Given the description of an element on the screen output the (x, y) to click on. 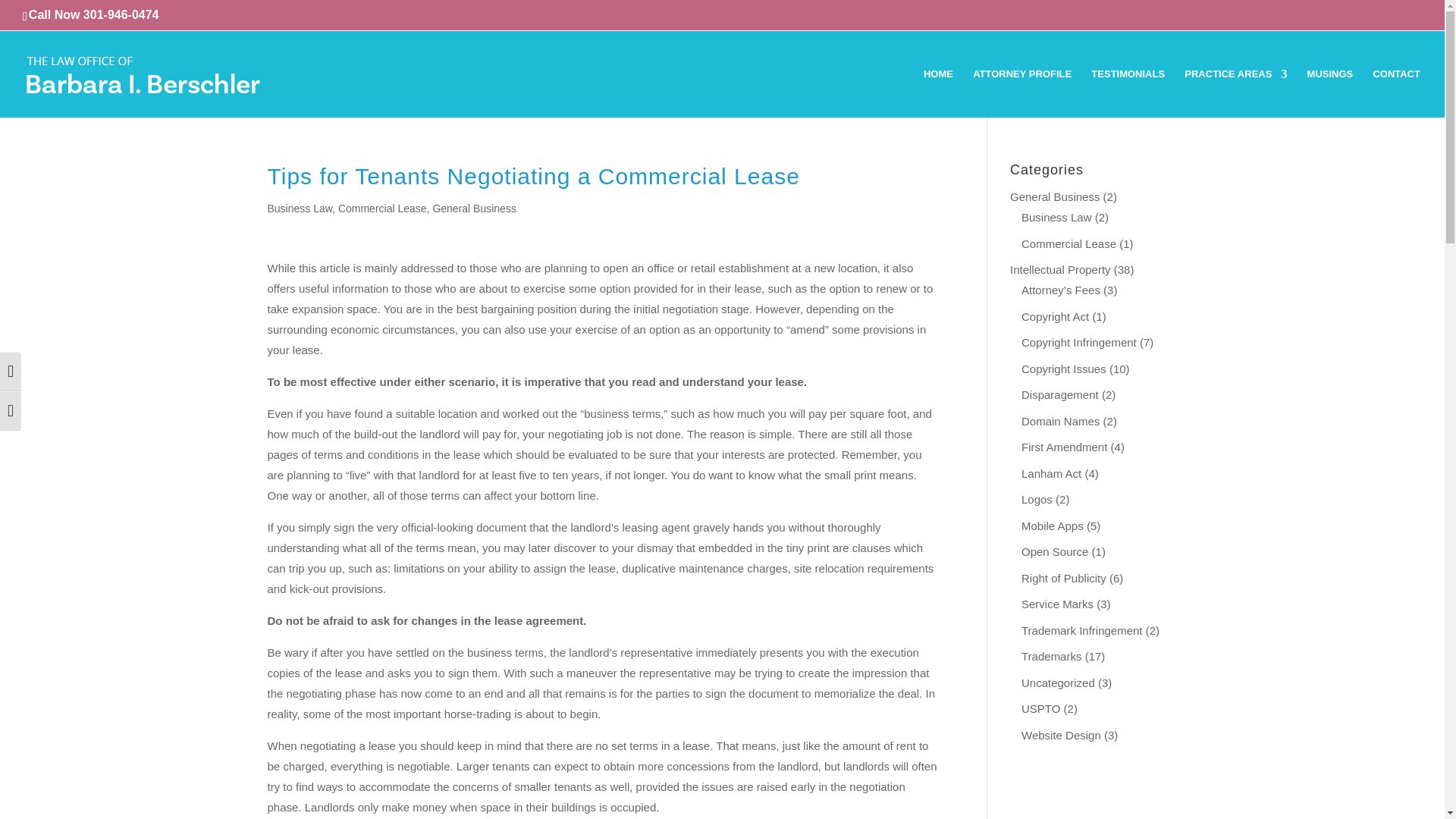
CONTACT (1397, 92)
Lanham Act (1051, 472)
Mobile Apps (1052, 525)
Commercial Lease (381, 208)
Disparagement (1060, 394)
Intellectual Property (1060, 269)
PRACTICE AREAS (1236, 92)
Open Source (1054, 551)
Business Law (1057, 216)
Copyright Issues (1064, 368)
Business Law (298, 208)
General Business (474, 208)
MUSINGS (1330, 92)
Logos (1037, 499)
TESTIMONIALS (1127, 92)
